Given the description of an element on the screen output the (x, y) to click on. 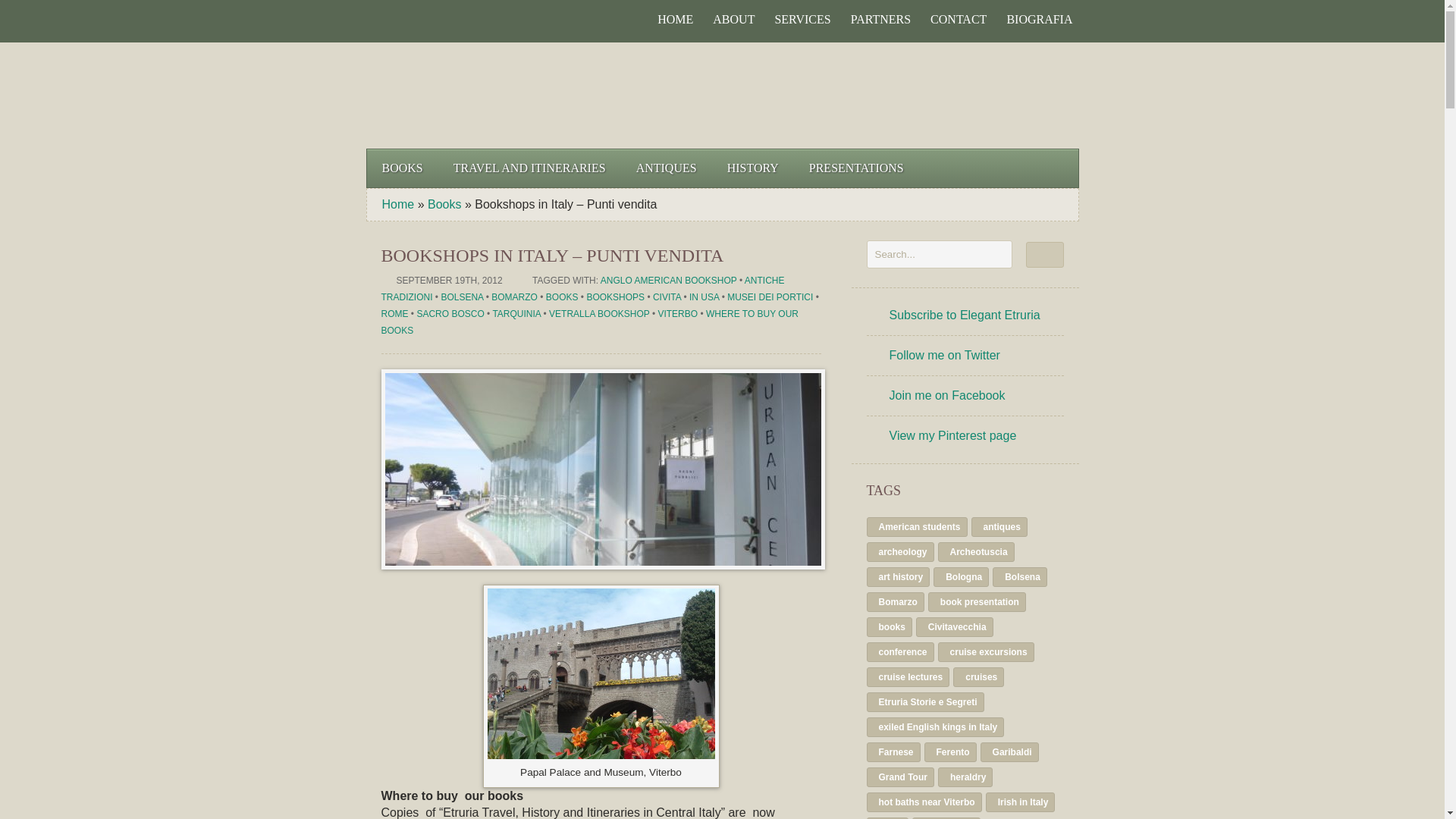
BOOKS (402, 168)
VITERBO (677, 313)
TARQUINIA (516, 313)
Pinterest (421, 19)
Search... (938, 254)
Twitter (398, 19)
MUSEI DEI PORTICI (769, 296)
Buy Books Direct (988, 95)
WHERE TO BUY OUR BOOKS (588, 321)
ANTIQUES (666, 168)
